Given the description of an element on the screen output the (x, y) to click on. 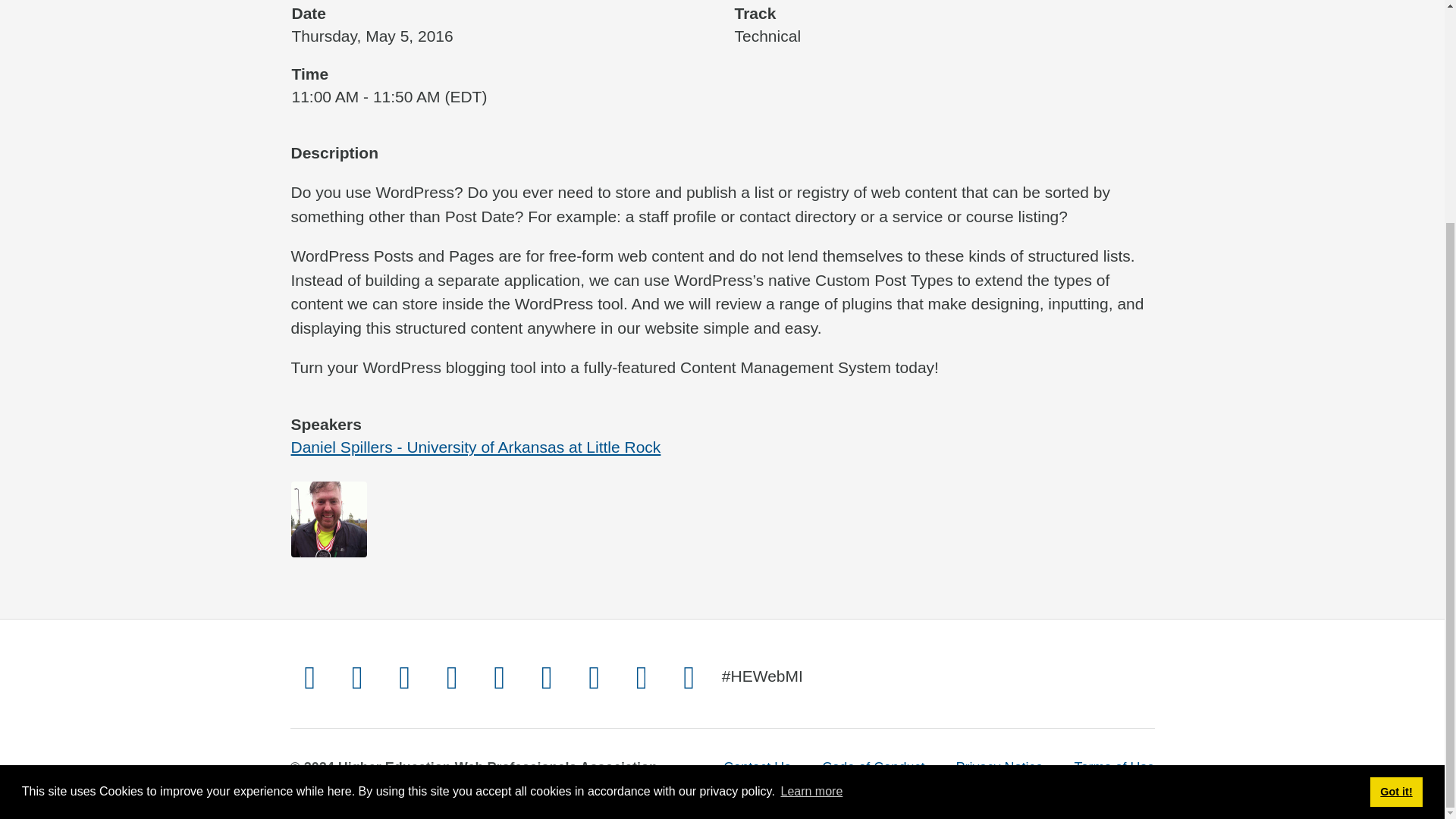
Slack (641, 675)
Higher Education Web Professionals Association (497, 767)
Twitter (309, 675)
Learn more (810, 495)
Daniel Spillers - University of Arkansas at Little Rock (476, 446)
LinkedIn (594, 675)
Terms of Use (1114, 767)
Instagram (357, 675)
YouTube (499, 675)
Facebook (405, 675)
